Given the description of an element on the screen output the (x, y) to click on. 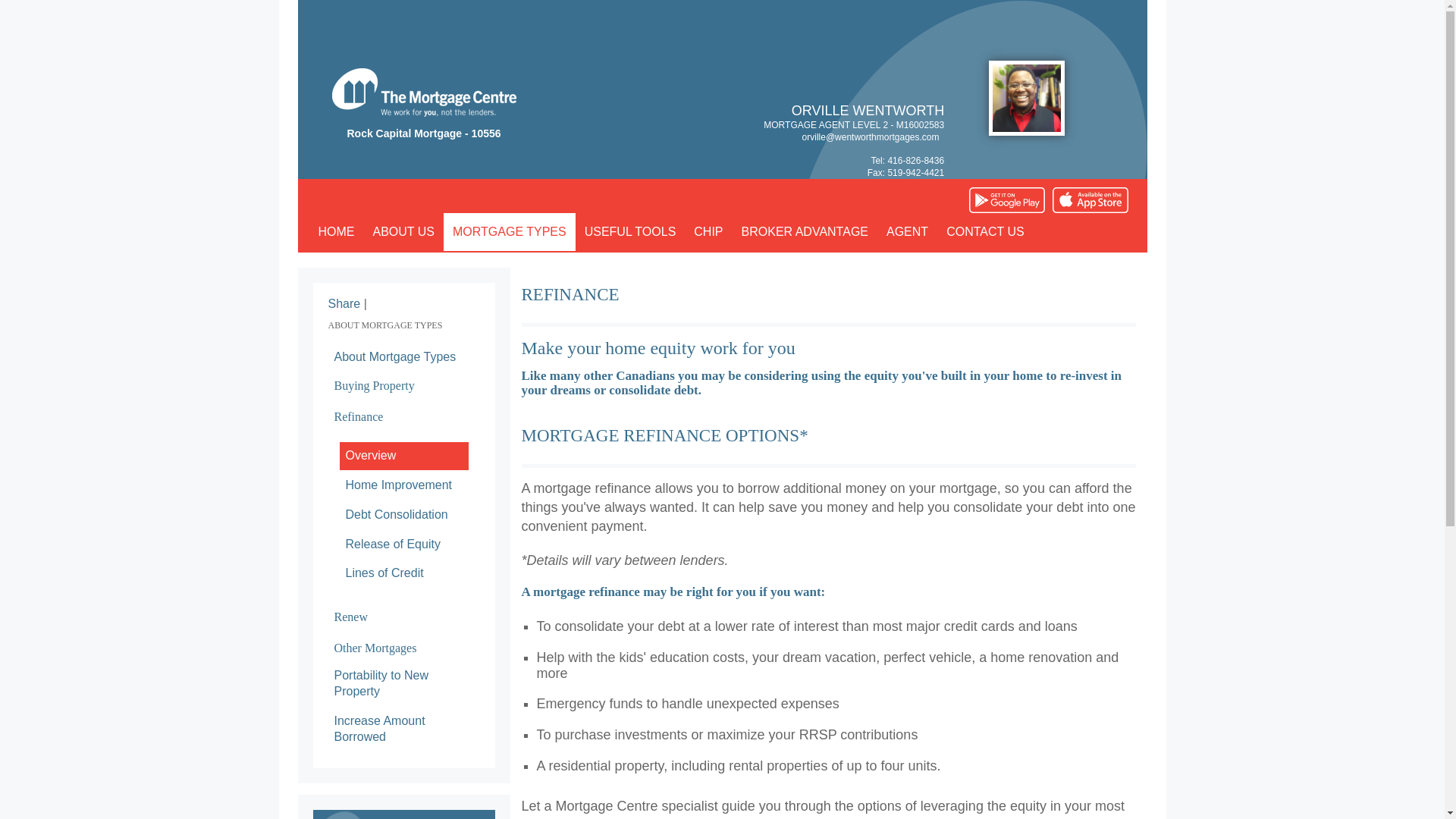
MORTGAGE TYPES (509, 231)
Orville Wentworth (1026, 97)
HOME (336, 231)
ABOUT US (404, 231)
